Given the description of an element on the screen output the (x, y) to click on. 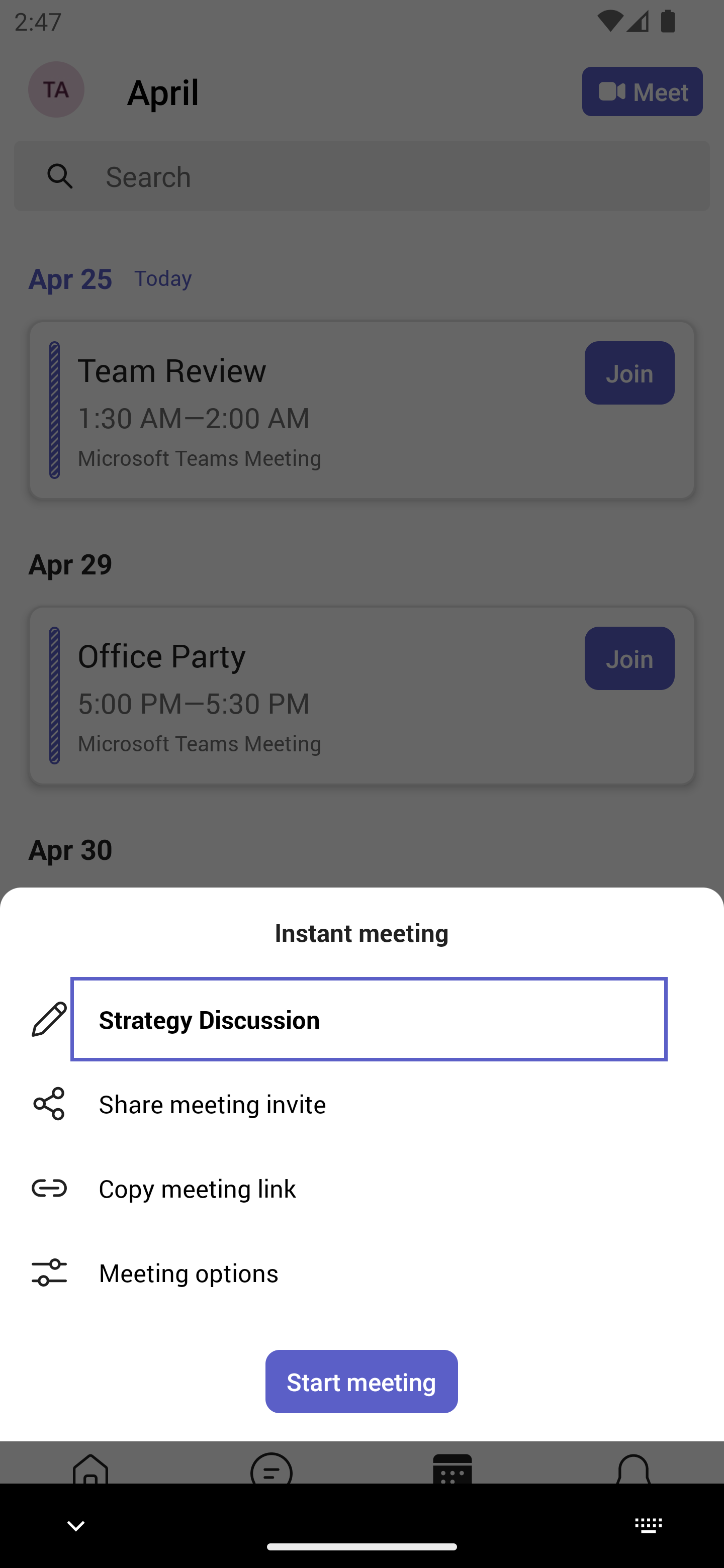
Strategy Discussion (368, 1018)
Share meeting invite (362, 1103)
Copy meeting link (362, 1188)
Meeting options (362, 1271)
Start meeting (361, 1381)
